Given the description of an element on the screen output the (x, y) to click on. 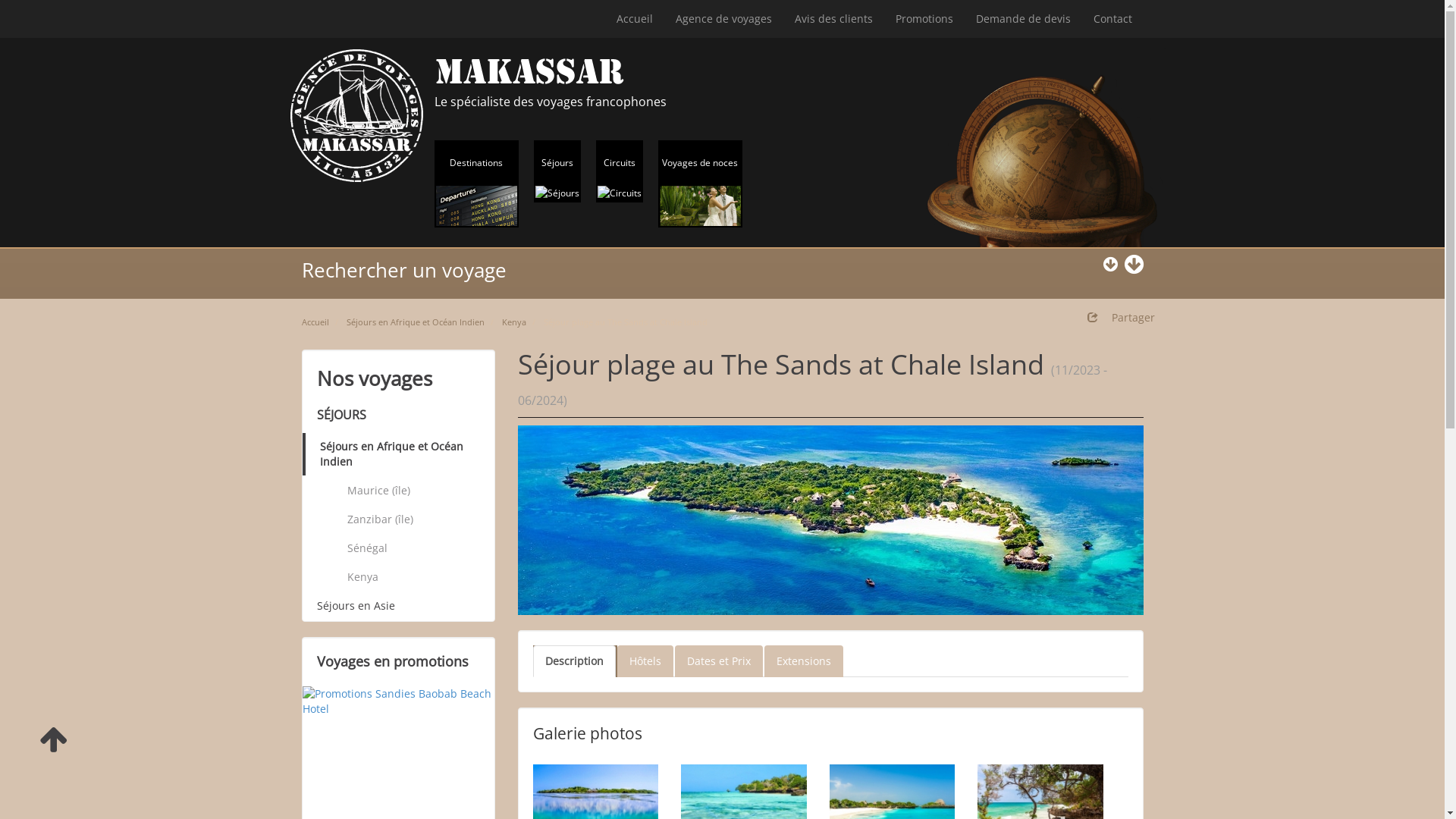
Destinations Element type: text (475, 183)
Dates et Prix Element type: text (718, 661)
  Partager Element type: text (1120, 317)
Promotions Element type: text (924, 18)
Agence de voyages Element type: text (723, 18)
Voyages de noces Element type: text (700, 183)
Kenya Element type: text (514, 321)
Kenya Element type: text (412, 576)
Extensions Element type: text (803, 661)
Avis des clients Element type: text (832, 18)
Circuits Element type: text (619, 171)
Contact Element type: text (1111, 18)
Description Element type: text (573, 661)
Demande de devis Element type: text (1023, 18)
Accueil Element type: text (315, 321)
Accueil Element type: text (634, 18)
